Given the description of an element on the screen output the (x, y) to click on. 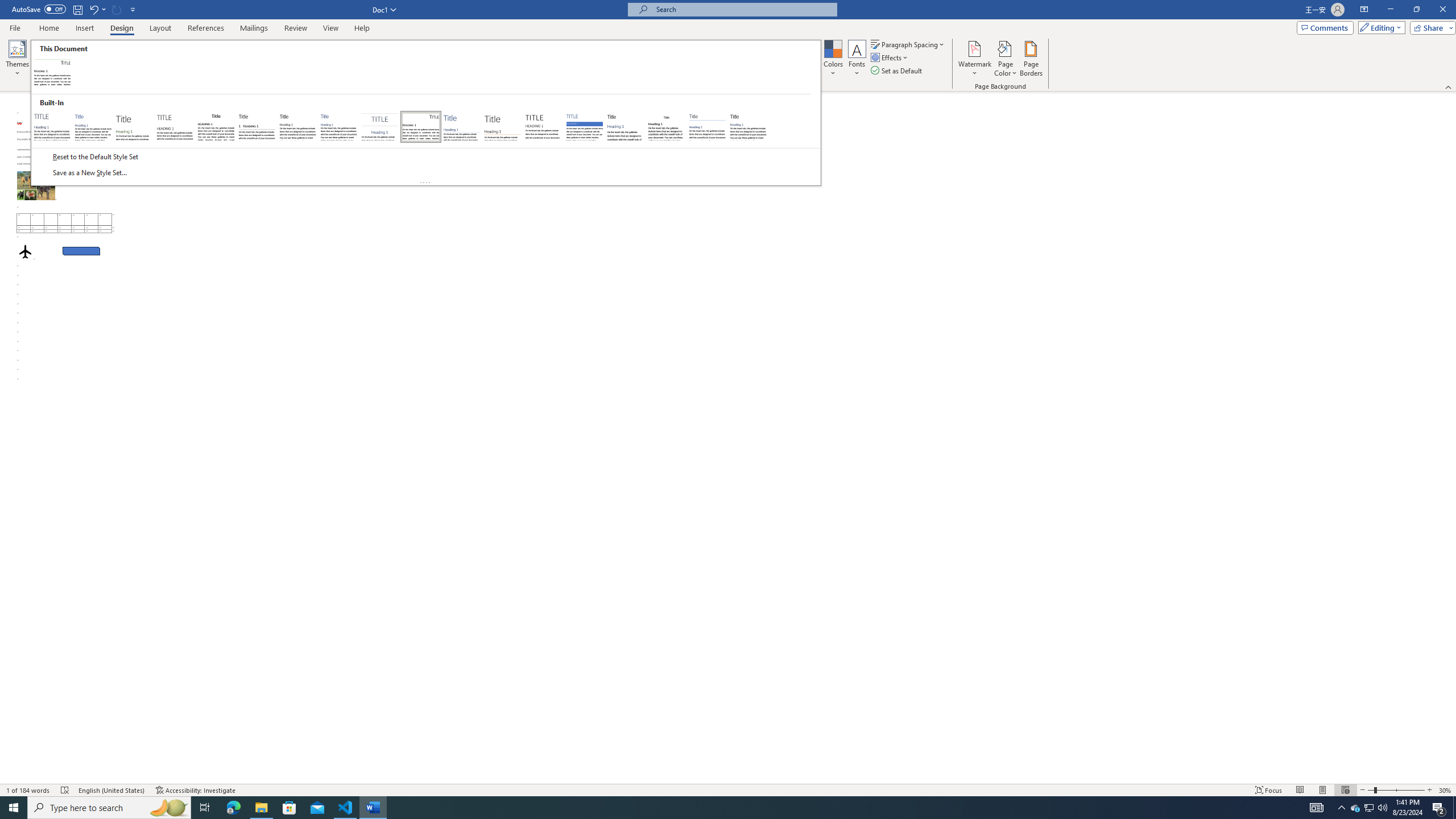
Can't Repeat (117, 9)
Class: Net UI Tool Window (425, 112)
Effects (890, 56)
